Given the description of an element on the screen output the (x, y) to click on. 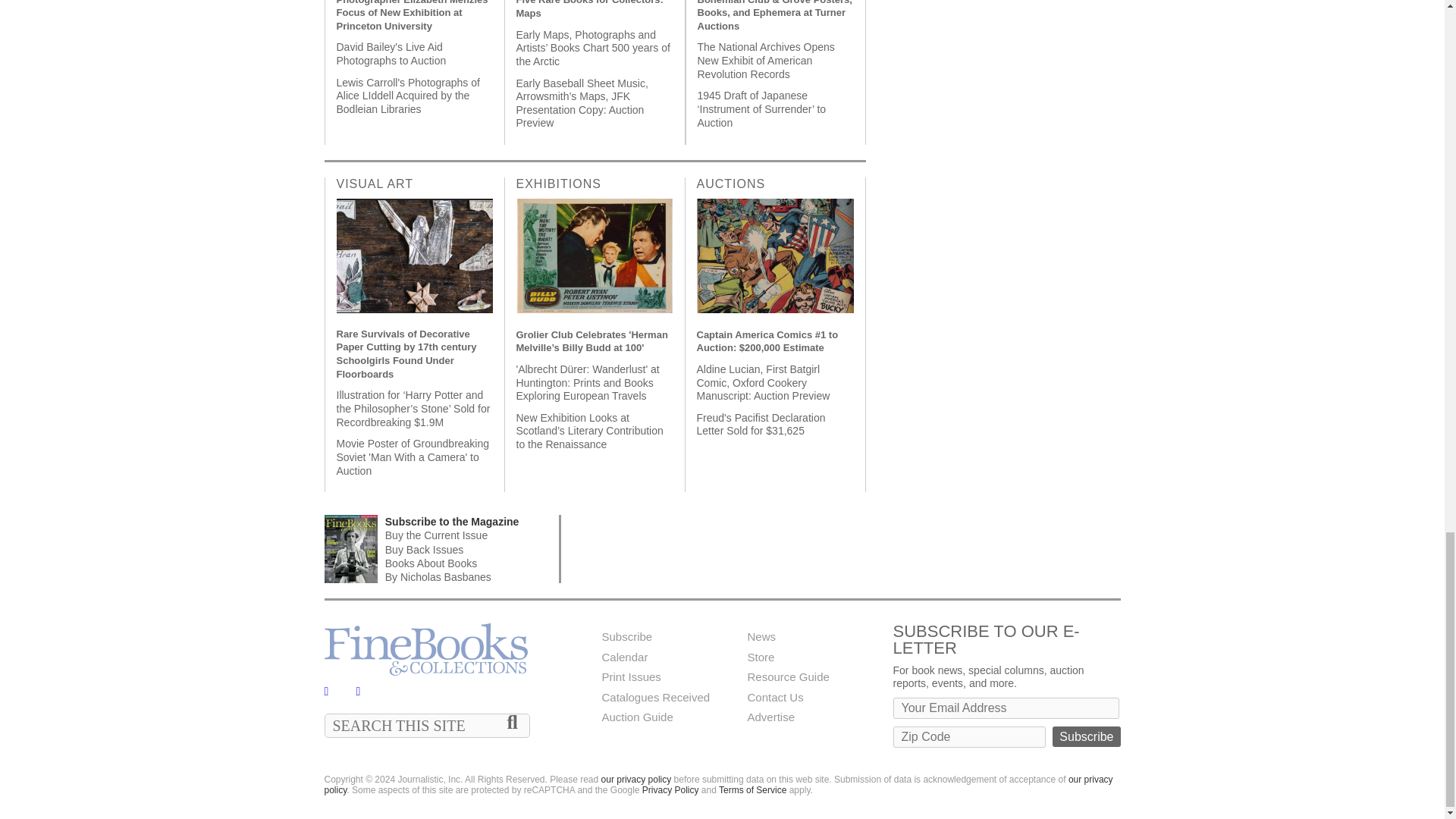
3rd party ad content (845, 549)
Subscribe (1085, 736)
